Given the description of an element on the screen output the (x, y) to click on. 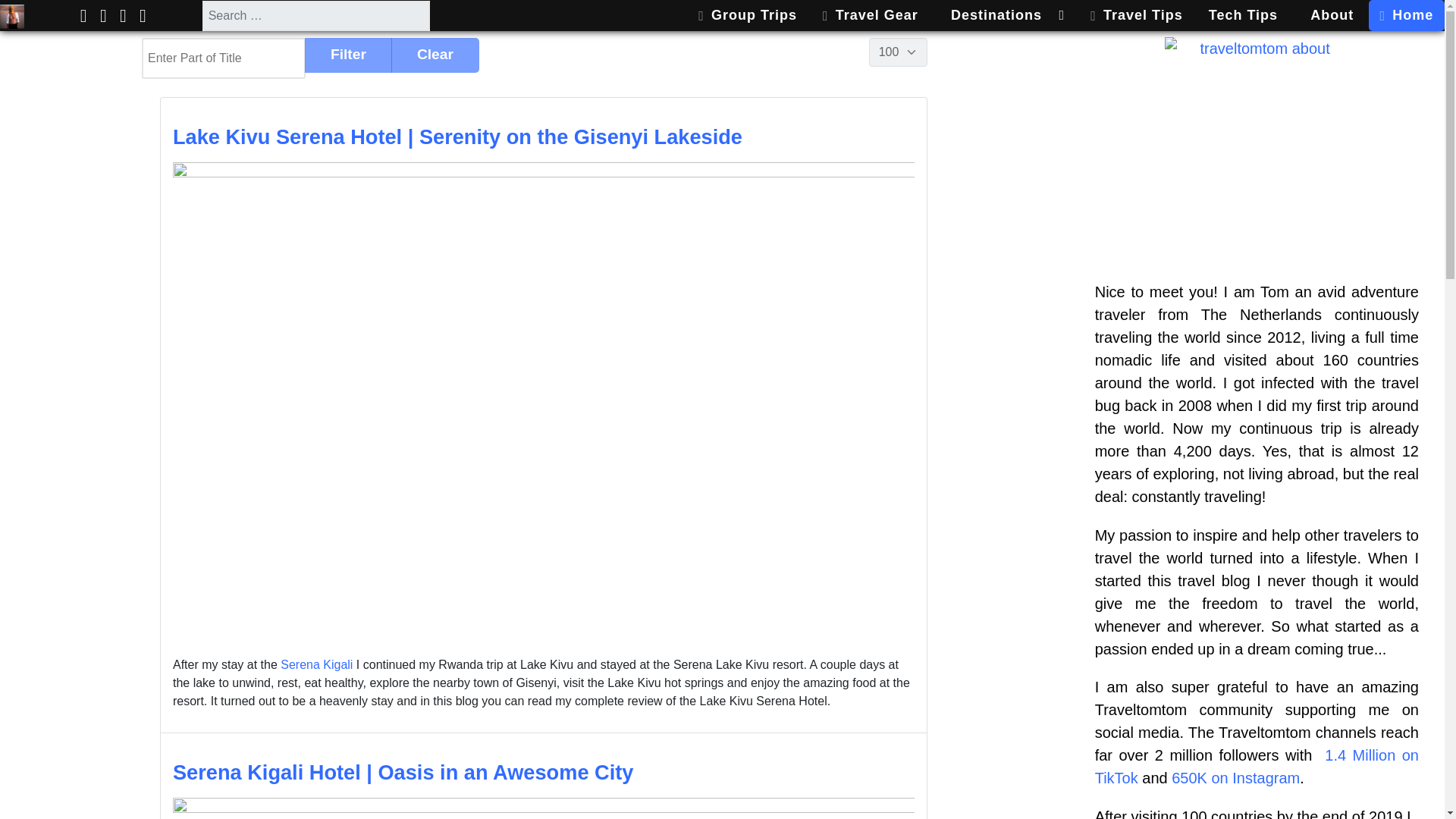
Destinations (1004, 15)
Destinations (1004, 15)
Travel Gear (869, 15)
Group Trips (747, 15)
Travel Gear (869, 15)
take me home (12, 14)
Group Trips (747, 15)
